Given the description of an element on the screen output the (x, y) to click on. 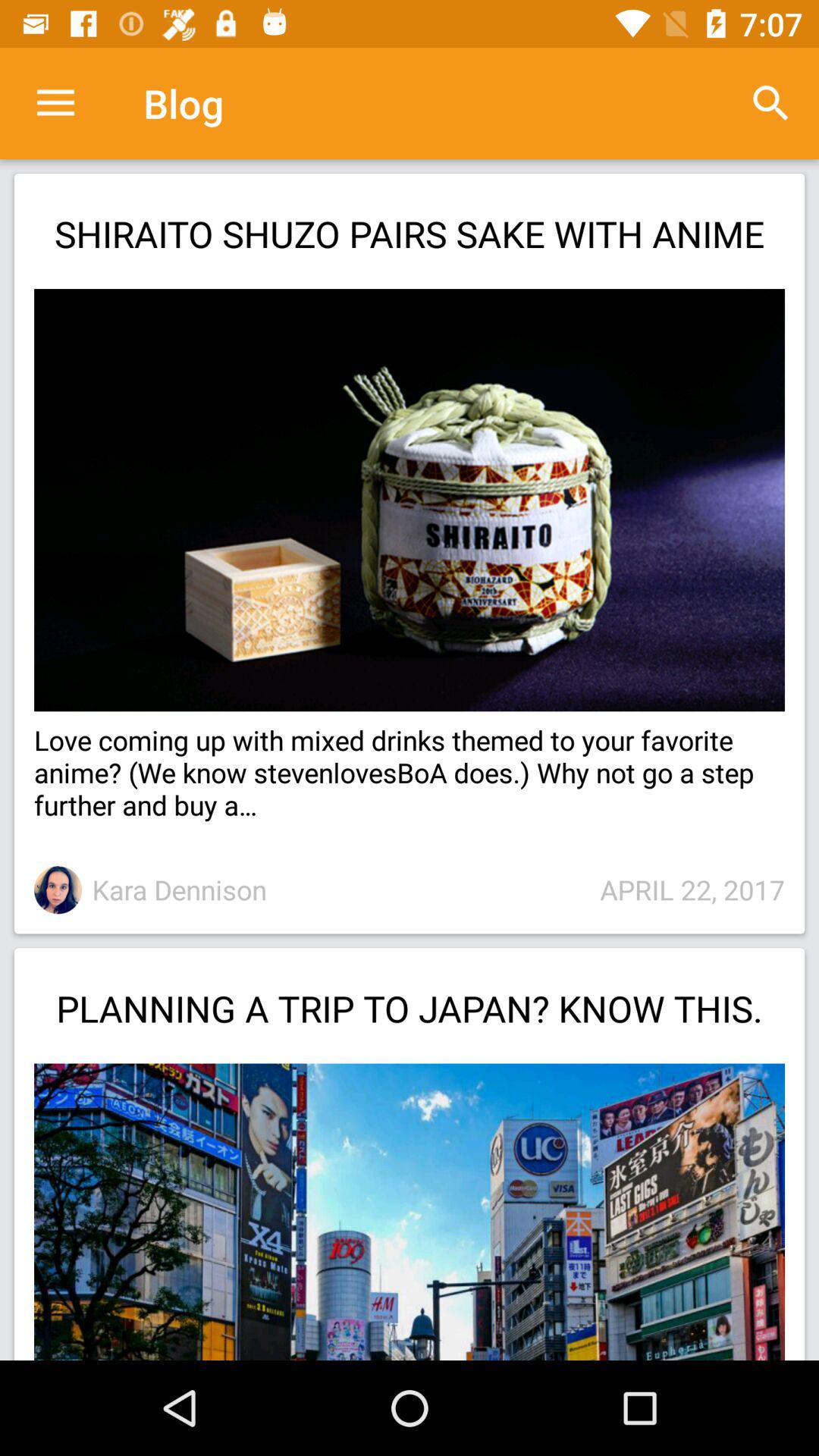
tap icon next to the blog (55, 103)
